Given the description of an element on the screen output the (x, y) to click on. 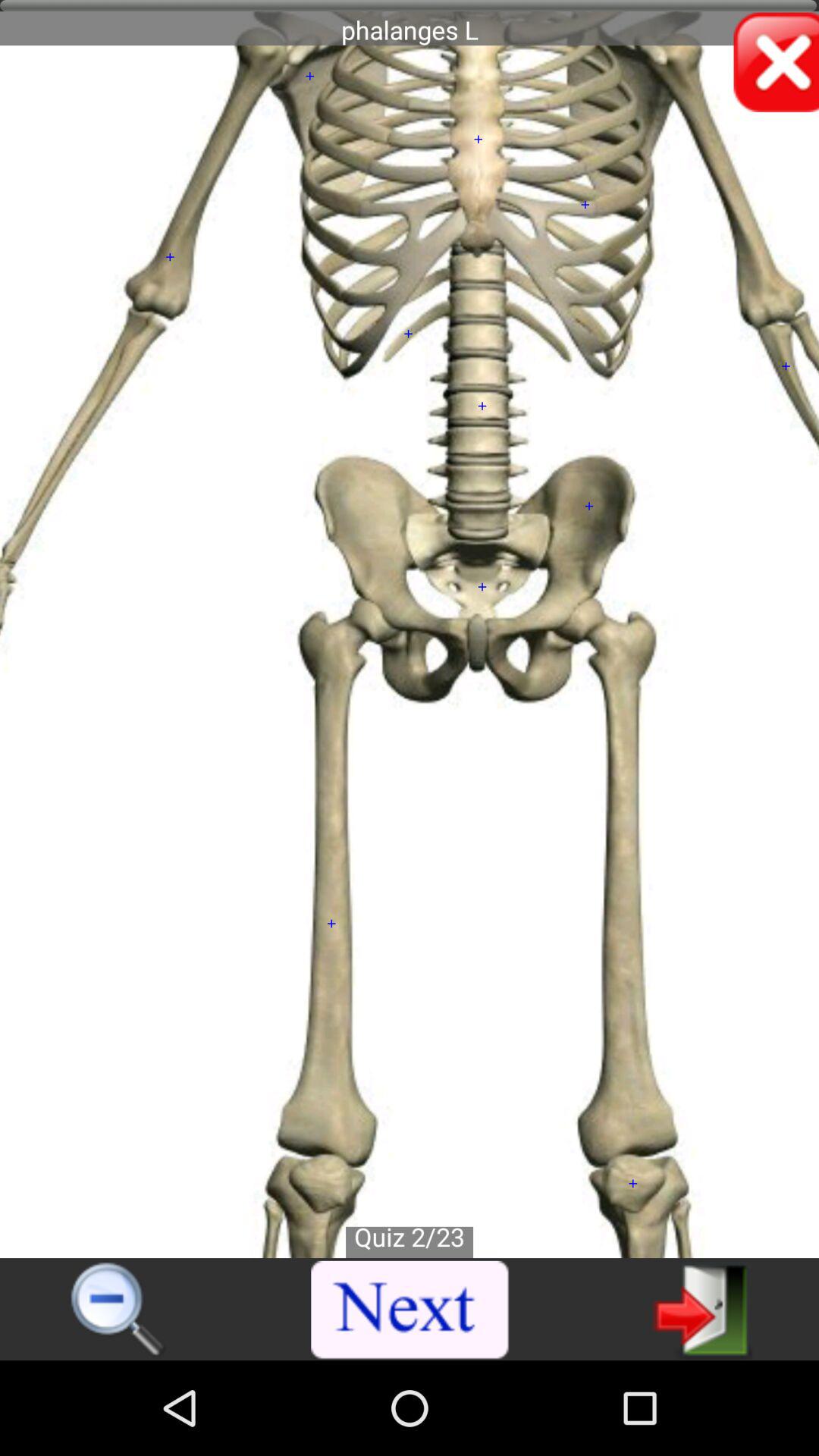
go to next page (702, 1309)
